Given the description of an element on the screen output the (x, y) to click on. 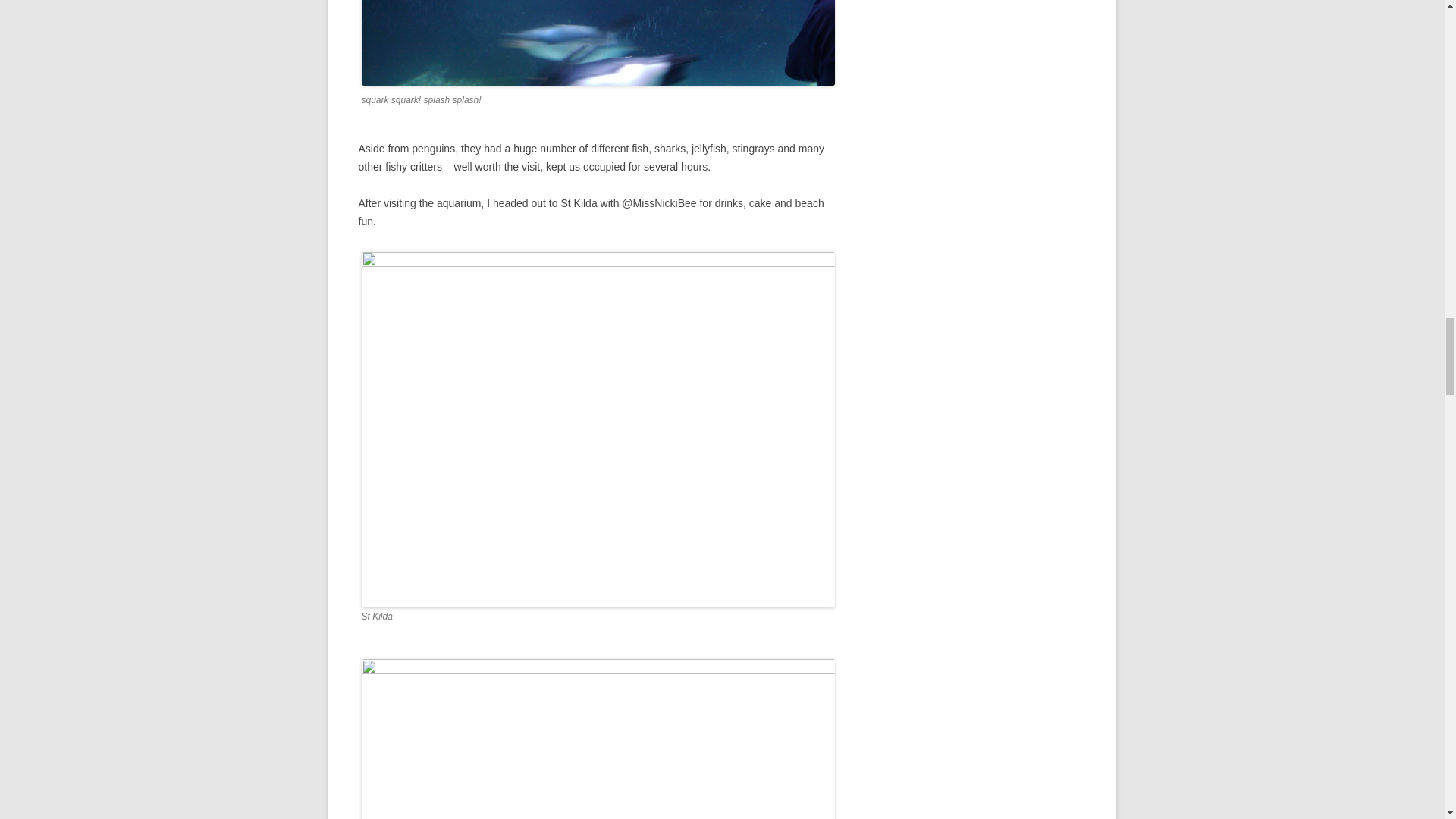
2011-02-03 15.20.12 (597, 739)
2011-02-03 12.43.37 (597, 43)
